Given the description of an element on the screen output the (x, y) to click on. 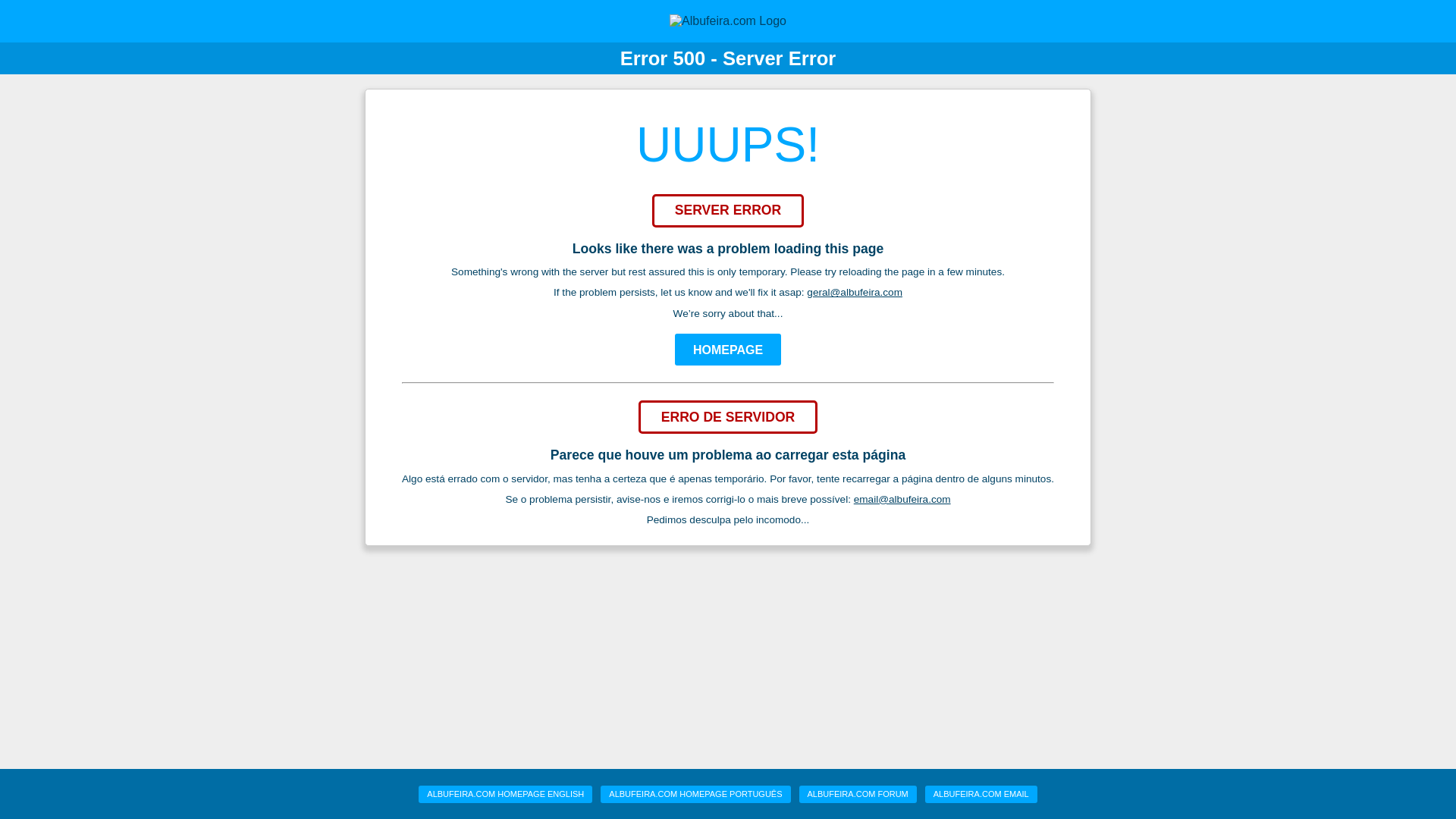
ALBUFEIRA.COM HOMEPAGE ENGLISH (505, 794)
ALBUFEIRA.COM EMAIL (980, 794)
ALBUFEIRA.COM FORUM (858, 794)
HOMEPAGE (727, 348)
